Given the description of an element on the screen output the (x, y) to click on. 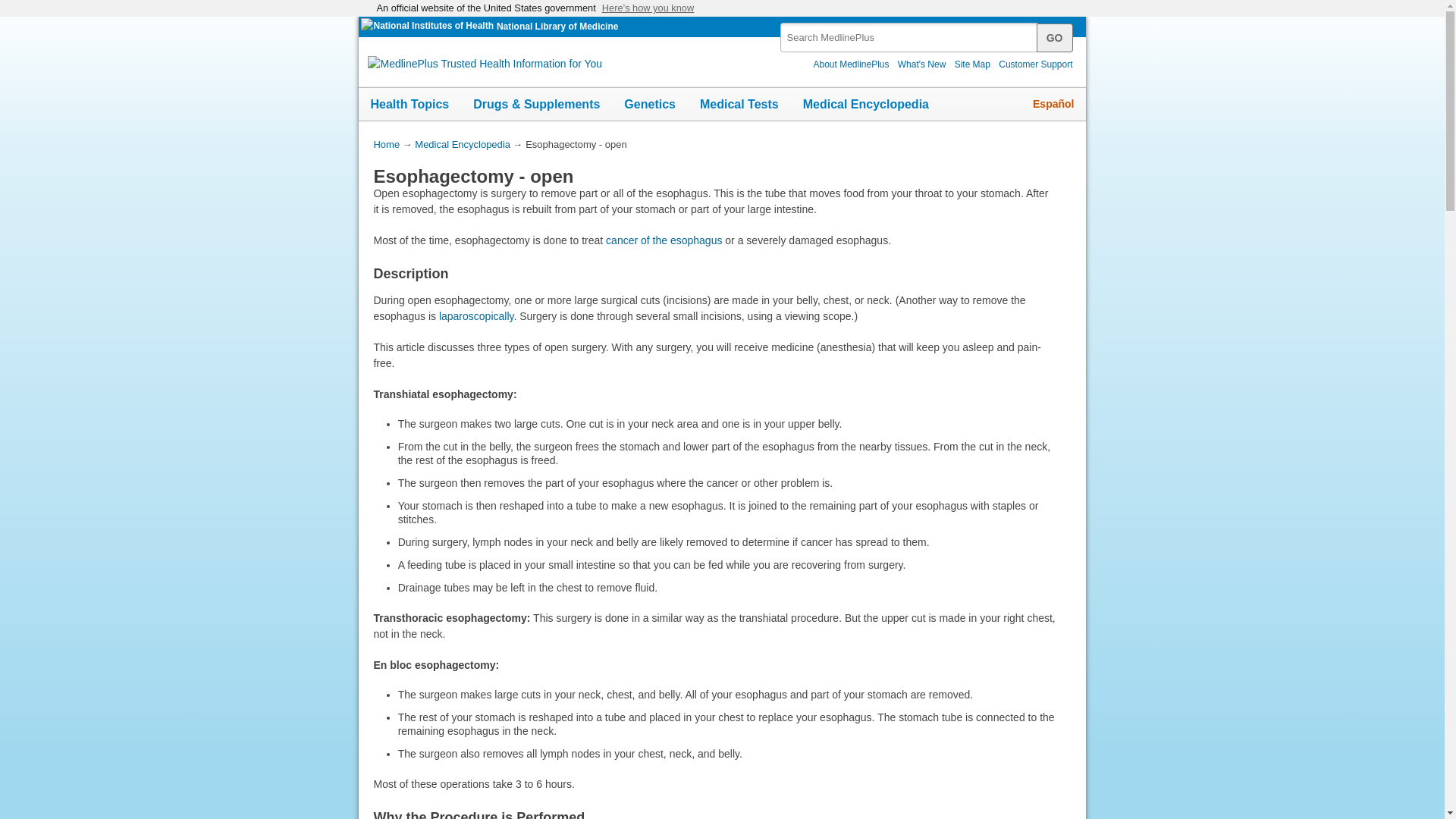
Medical Tests (738, 104)
cancer of the esophagus (663, 240)
Site Map (972, 63)
National Institutes of Health (428, 27)
GO (1054, 37)
Medical Encyclopedia (462, 143)
Health Topics (409, 104)
Genetics (649, 104)
Customer Support (1035, 63)
Search MedlinePlus (1054, 37)
laparoscopically (476, 316)
Medical Encyclopedia (865, 104)
MedlinePlus Trusted Health Information for You (485, 64)
Home (385, 143)
